Given the description of an element on the screen output the (x, y) to click on. 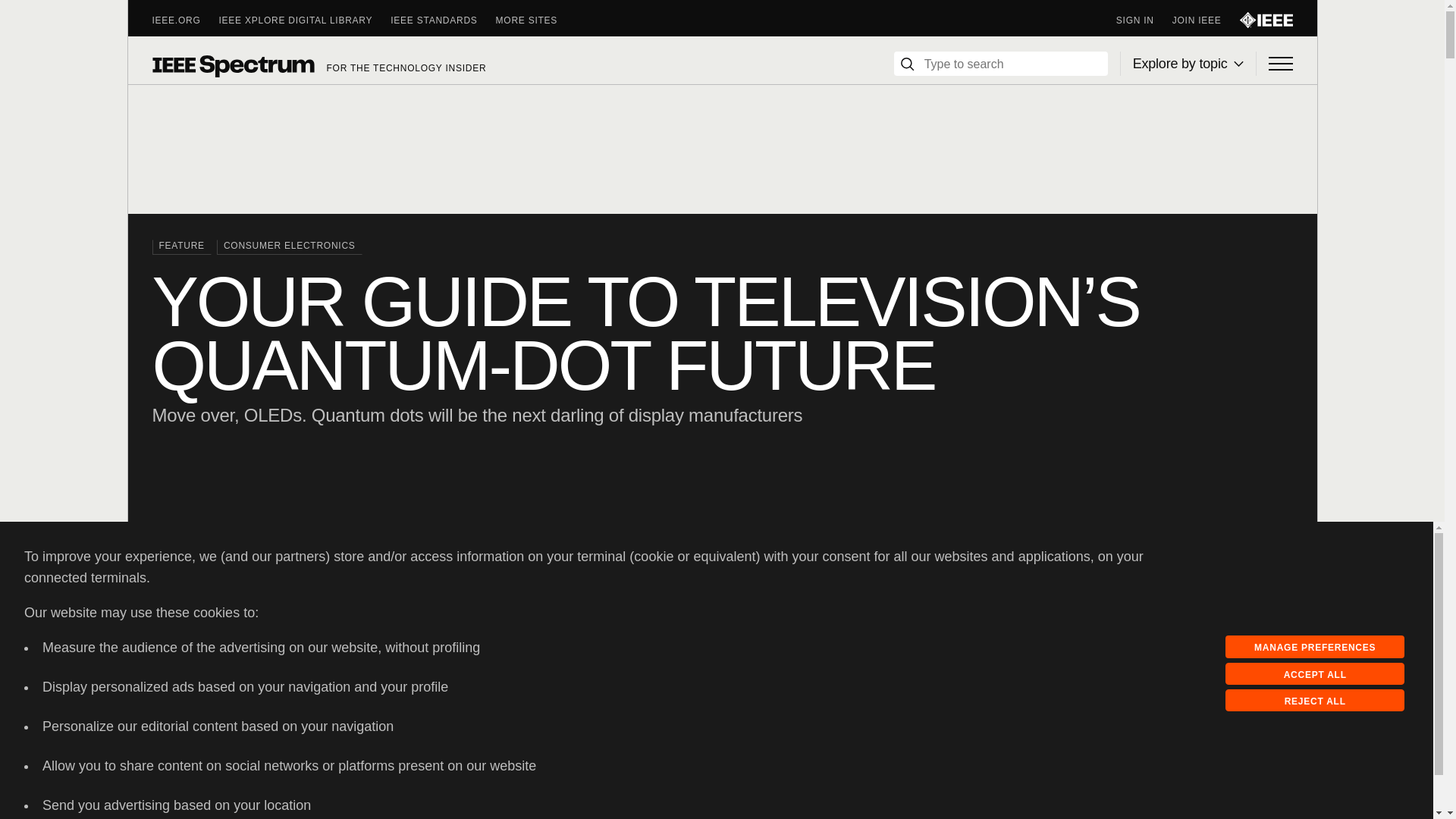
Copy this link to clipboard (1199, 640)
MANAGE PREFERENCES (1315, 646)
SIGN IN (1144, 20)
IEEE STANDARDS (442, 20)
ACCEPT ALL (1315, 673)
JOIN IEEE (1206, 20)
REJECT ALL (1315, 700)
IEEE.ORG (184, 20)
Search (907, 63)
Spectrum Logo (232, 64)
